Given the description of an element on the screen output the (x, y) to click on. 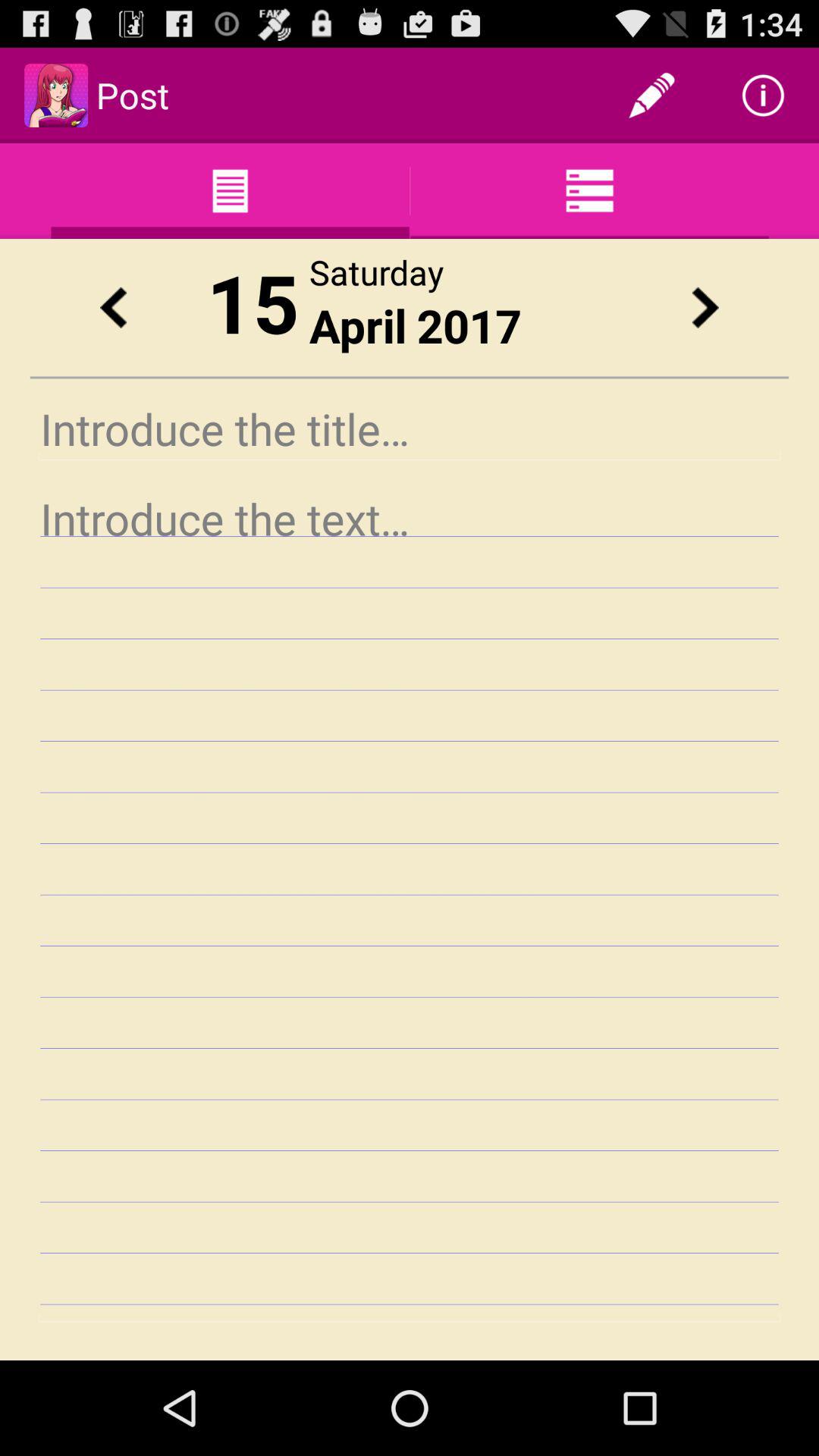
move to the next date (704, 307)
